Given the description of an element on the screen output the (x, y) to click on. 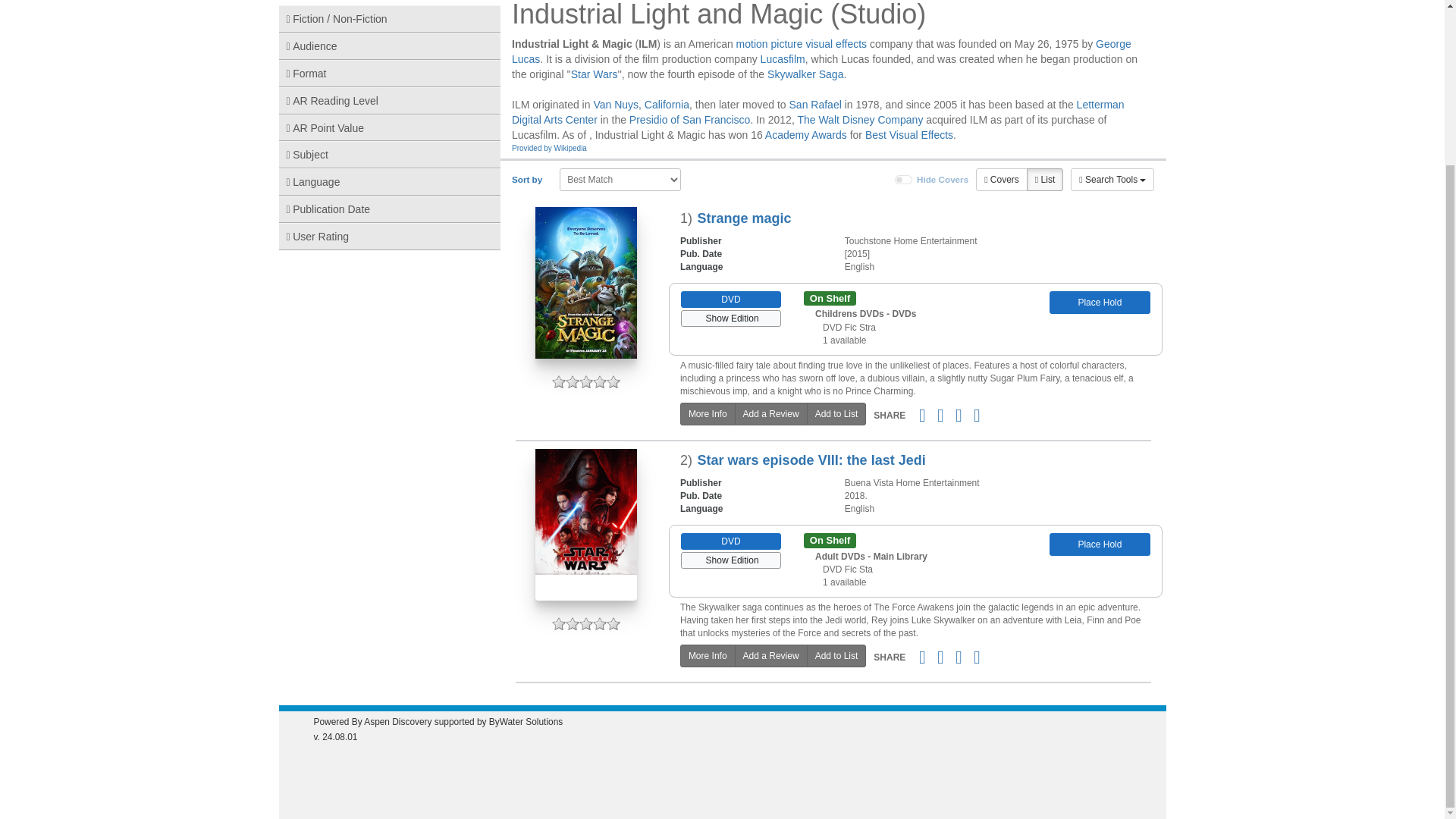
motion picture (769, 43)
George Lucas (821, 51)
visual effects (835, 43)
on (903, 179)
Lucasfilm (782, 59)
